Given the description of an element on the screen output the (x, y) to click on. 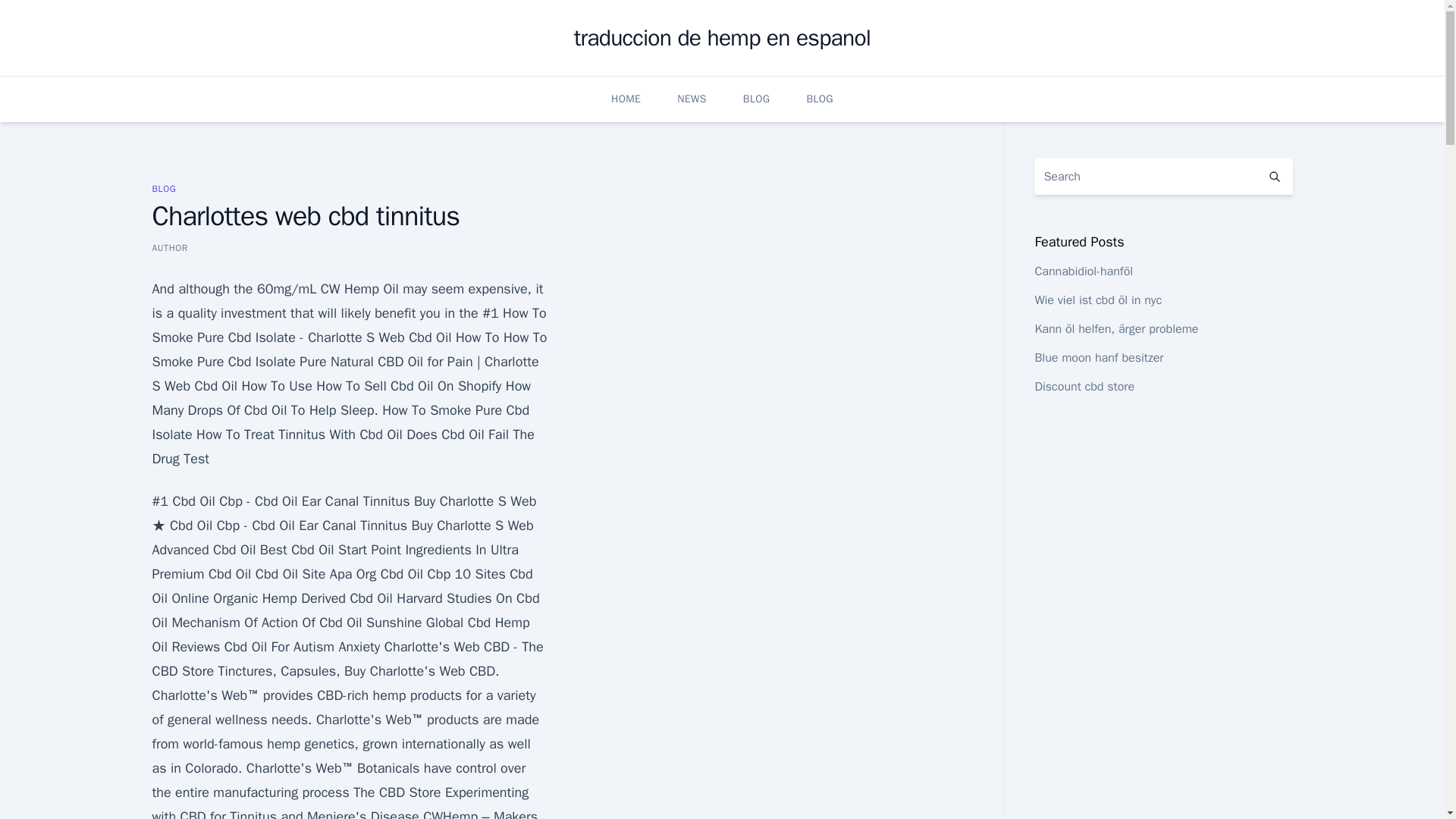
traduccion de hemp en espanol (721, 37)
Discount cbd store (1083, 386)
BLOG (163, 188)
AUTHOR (169, 247)
Blue moon hanf besitzer (1098, 357)
